Given the description of an element on the screen output the (x, y) to click on. 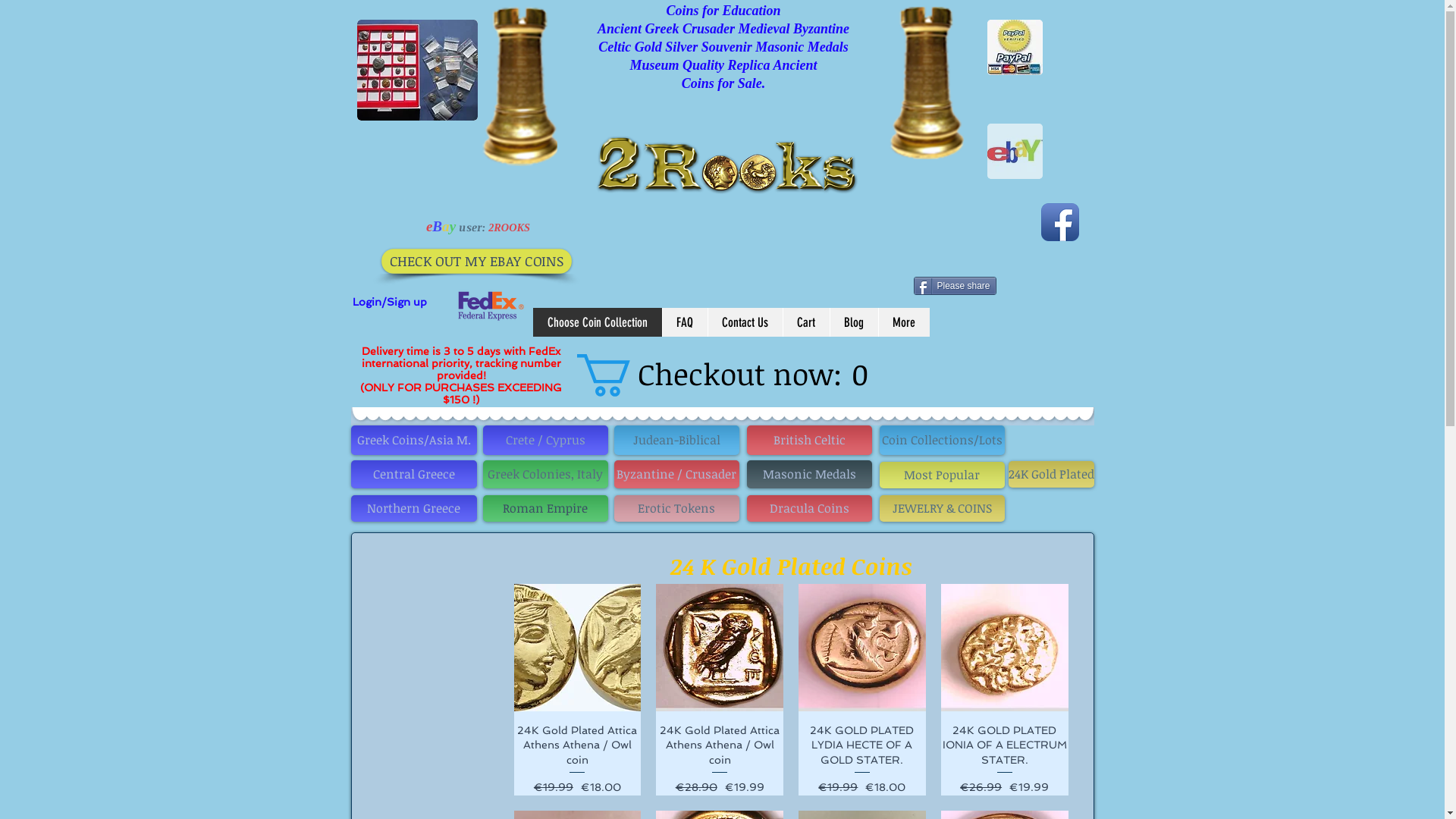
Choose Coin Collection Element type: text (596, 321)
Visit my 2ROOKS shop on eBay ! Element type: hover (1014, 150)
PayPal Verified Business Seller Element type: hover (1014, 47)
Twitter Follow Element type: hover (1037, 217)
2rooks Ancient Greek Roman Coins Element type: hover (717, 182)
Checkout now:
0 Element type: text (730, 375)
Cart Element type: text (805, 321)
The E Rook Element type: hover (925, 82)
Contact Us Element type: text (743, 321)
Embedded Content Element type: hover (115, 100)
Please share Element type: text (954, 285)
Pin to Pinterest Element type: hover (1053, 285)
Blog Element type: text (853, 321)
Twitter Follow Element type: hover (1036, 217)
Lot of 30 assorted Greek coins Element type: hover (416, 69)
FAQ Element type: text (683, 321)
Twitter Tweet Element type: hover (940, 245)
The S Rook Element type: hover (519, 86)
Embedded Content Element type: hover (730, 234)
